Given the description of an element on the screen output the (x, y) to click on. 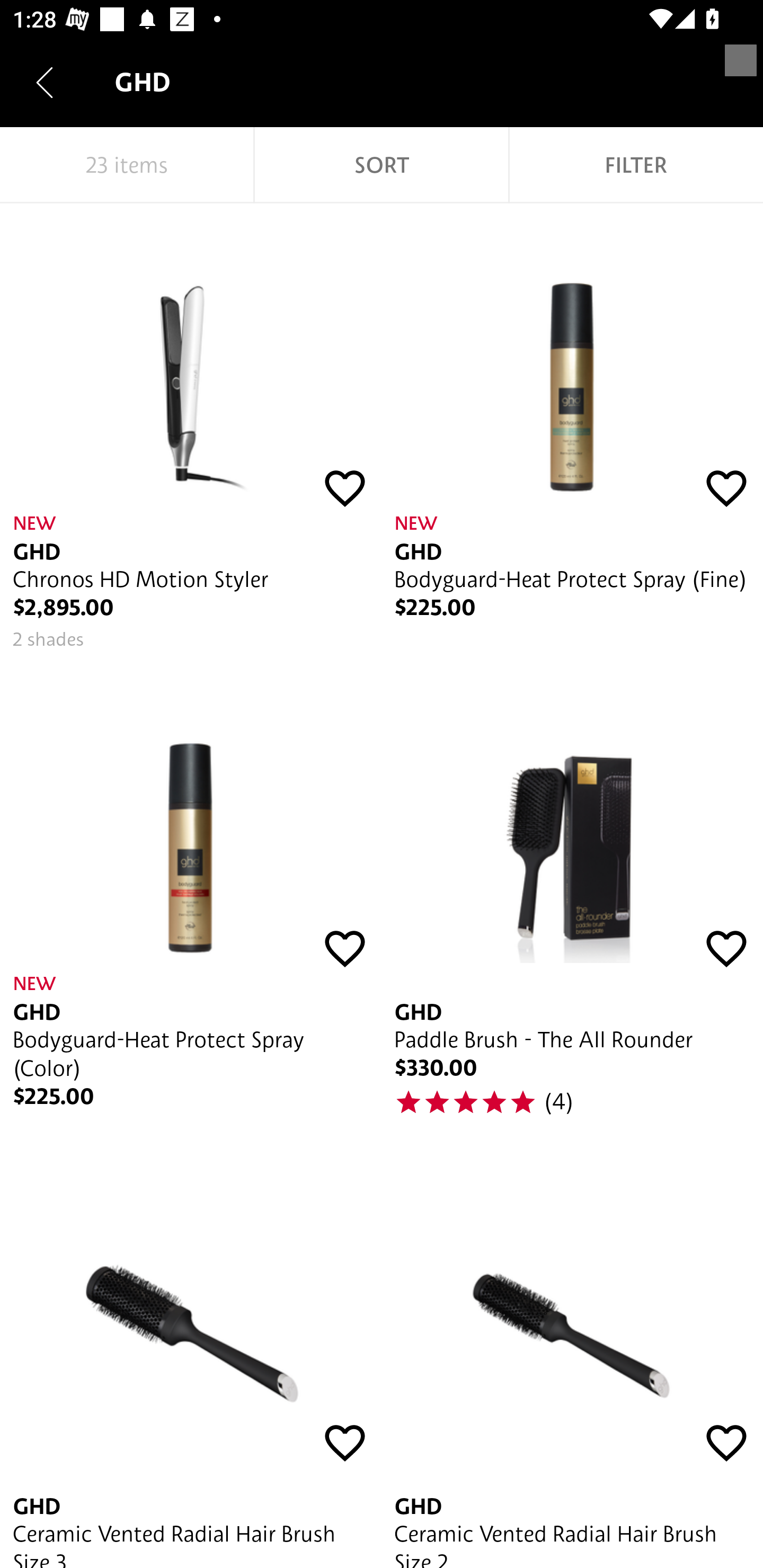
Navigate up (44, 82)
SORT (381, 165)
FILTER (636, 165)
GHD Ceramic Vented Radial Hair Brush Size 3 (190, 1363)
GHD Ceramic Vented Radial Hair Brush Size 2 (572, 1363)
